Given the description of an element on the screen output the (x, y) to click on. 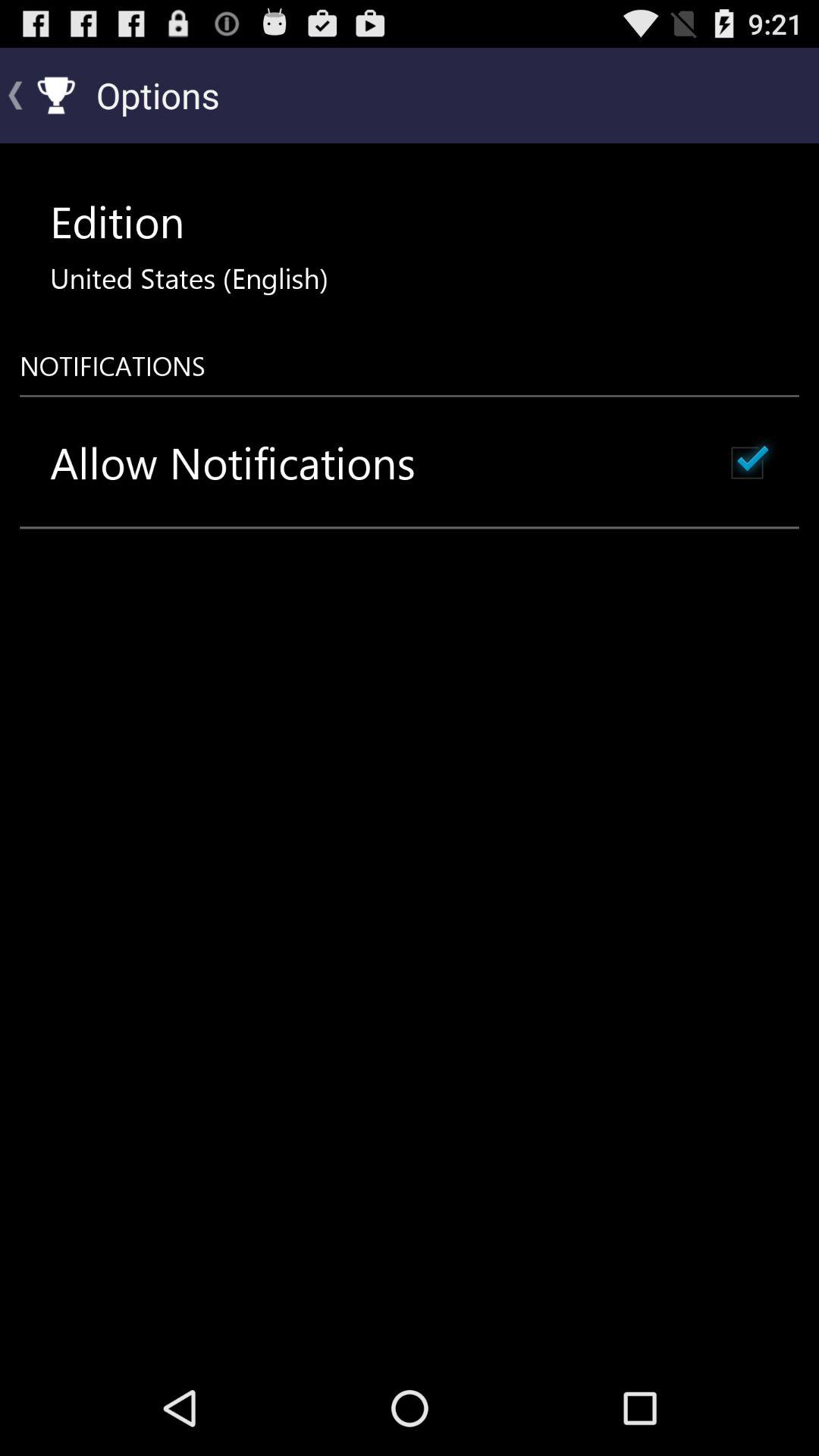
tap icon above notifications icon (189, 278)
